Given the description of an element on the screen output the (x, y) to click on. 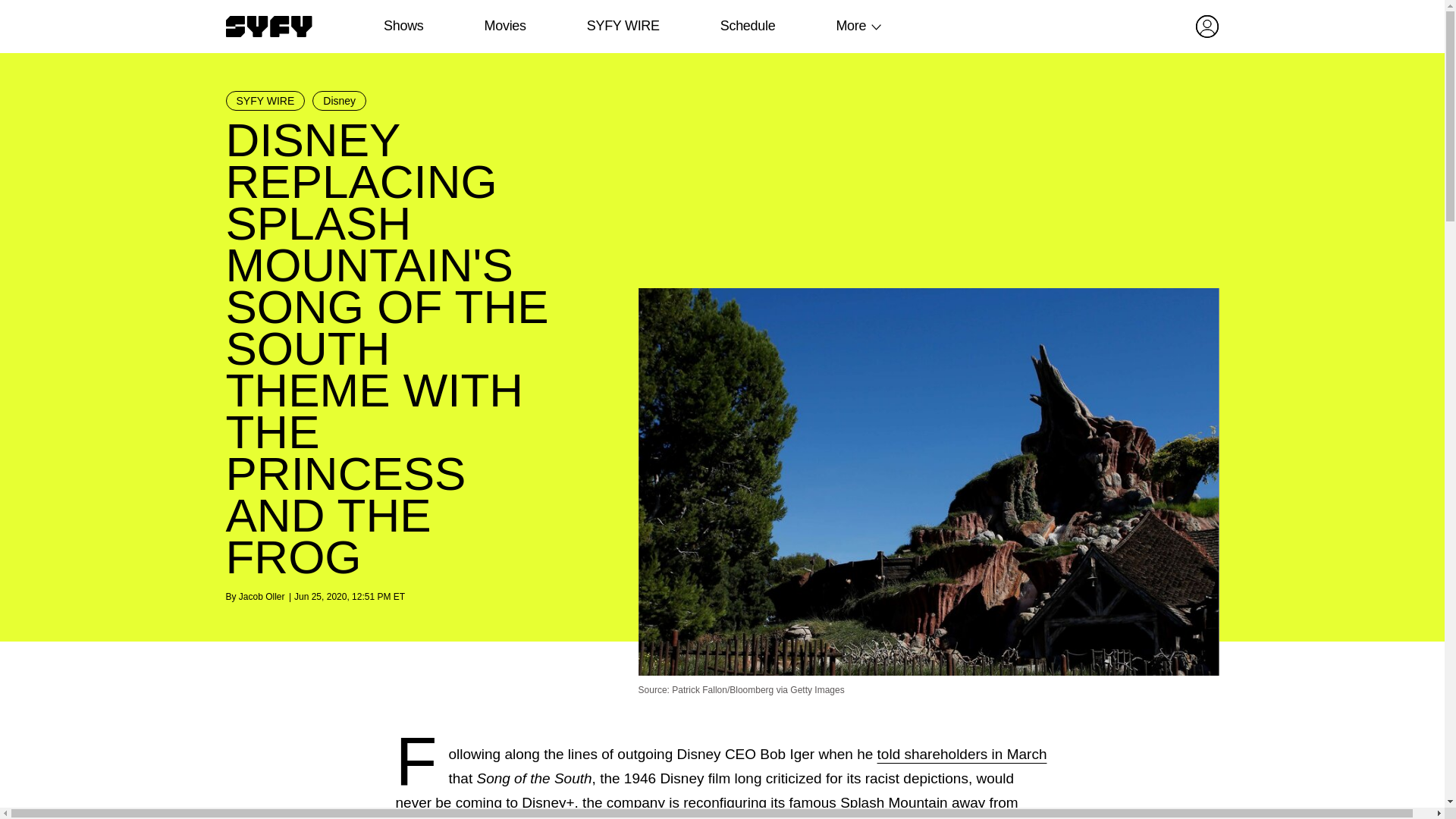
Shows (403, 26)
told shareholders in March (961, 754)
Disney (339, 100)
SYFY WIRE (265, 100)
Jacob Oller (261, 596)
Schedule (746, 26)
Movies (504, 26)
More (850, 26)
SYFY WIRE (622, 26)
